Given the description of an element on the screen output the (x, y) to click on. 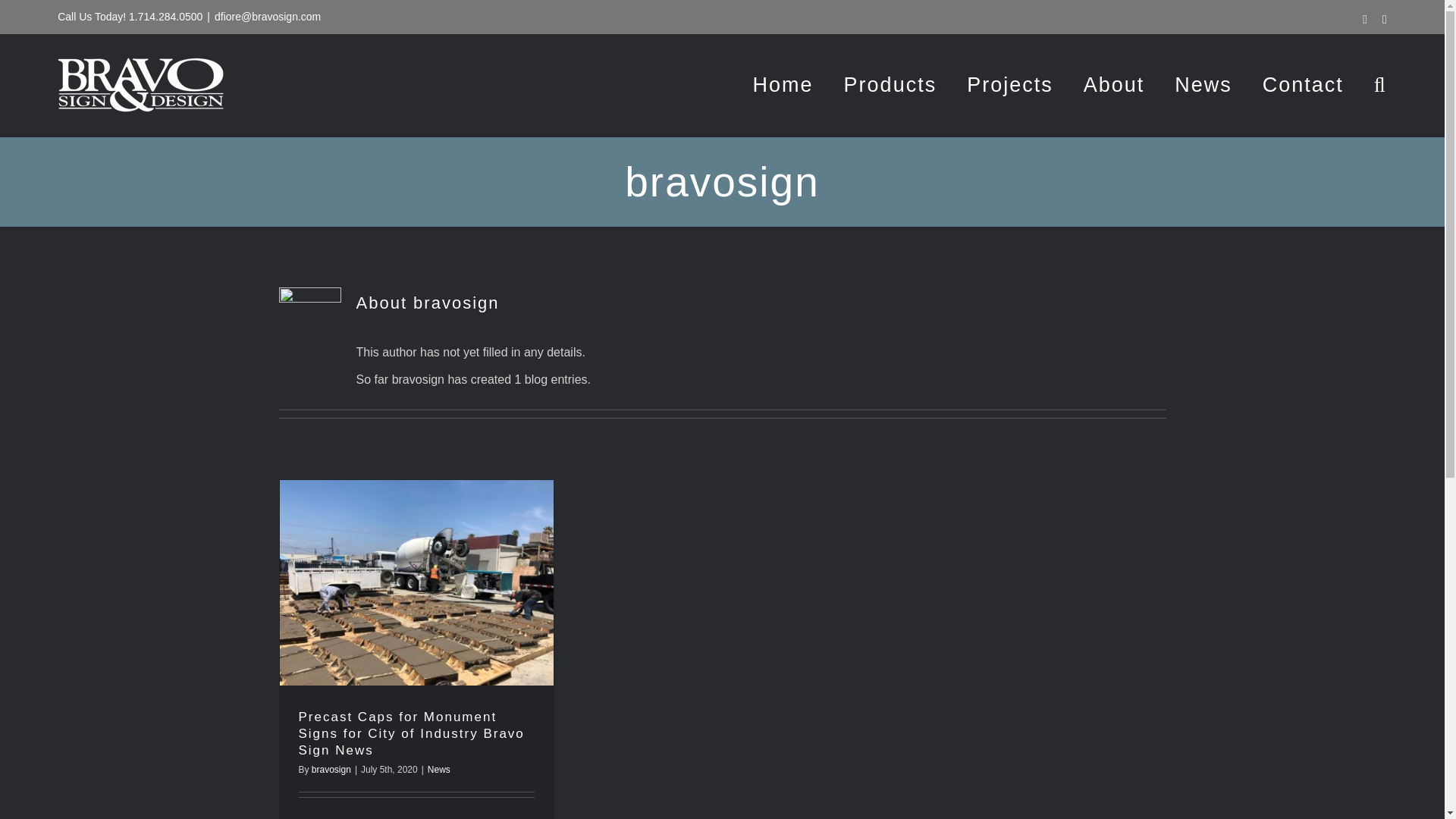
News (438, 769)
Posts by bravosign (330, 769)
bravosign (330, 769)
Products (890, 84)
